Given the description of an element on the screen output the (x, y) to click on. 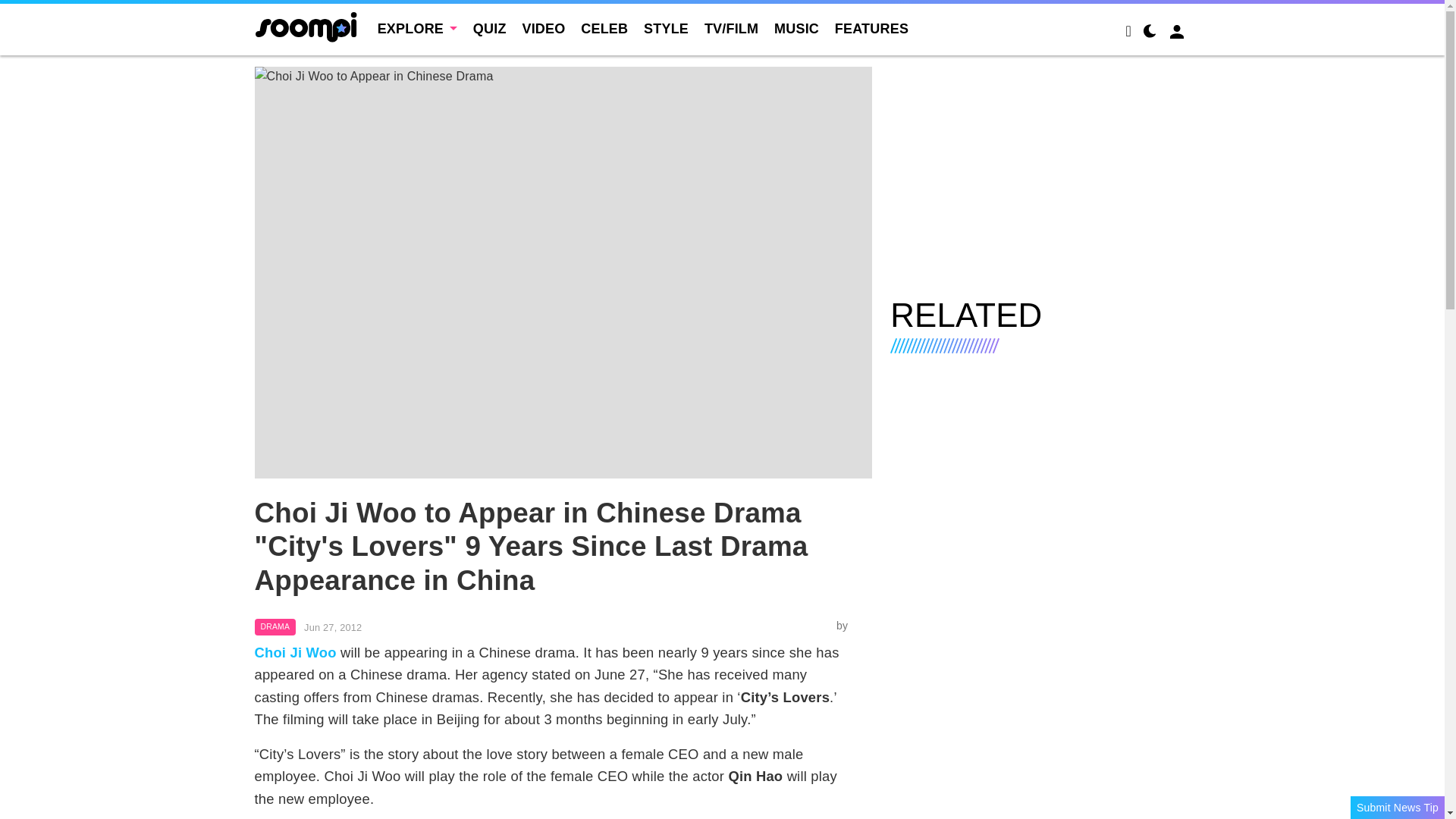
CELEB (603, 28)
STYLE (665, 28)
FEATURES (871, 28)
EXPLORE (417, 28)
3rd party ad content (1040, 173)
VIDEO (542, 28)
Choi Ji Woo (295, 652)
DRAMA (275, 627)
QUIZ (489, 28)
Drama (275, 627)
